Given the description of an element on the screen output the (x, y) to click on. 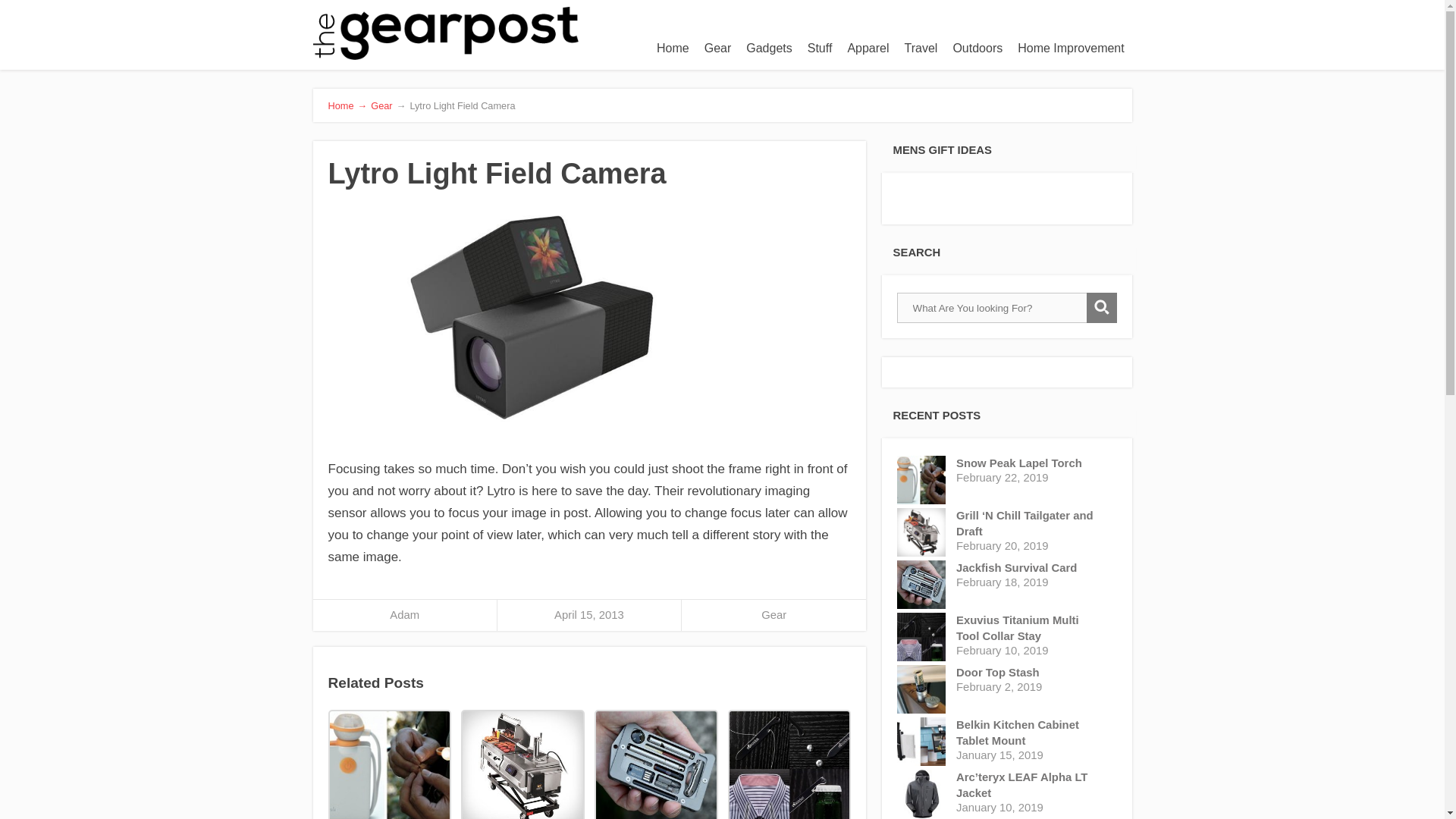
Jackfish Survival Card (655, 764)
Home (673, 48)
Travel (920, 48)
Gear (381, 105)
Door Top Stash (1029, 672)
Snow Peak Lapel Torch (1029, 463)
Jackfish Survival Card (1029, 568)
Apparel (868, 48)
Gear (773, 614)
Exuvius Titanium Multi Tool Collar Stay (1029, 628)
